Given the description of an element on the screen output the (x, y) to click on. 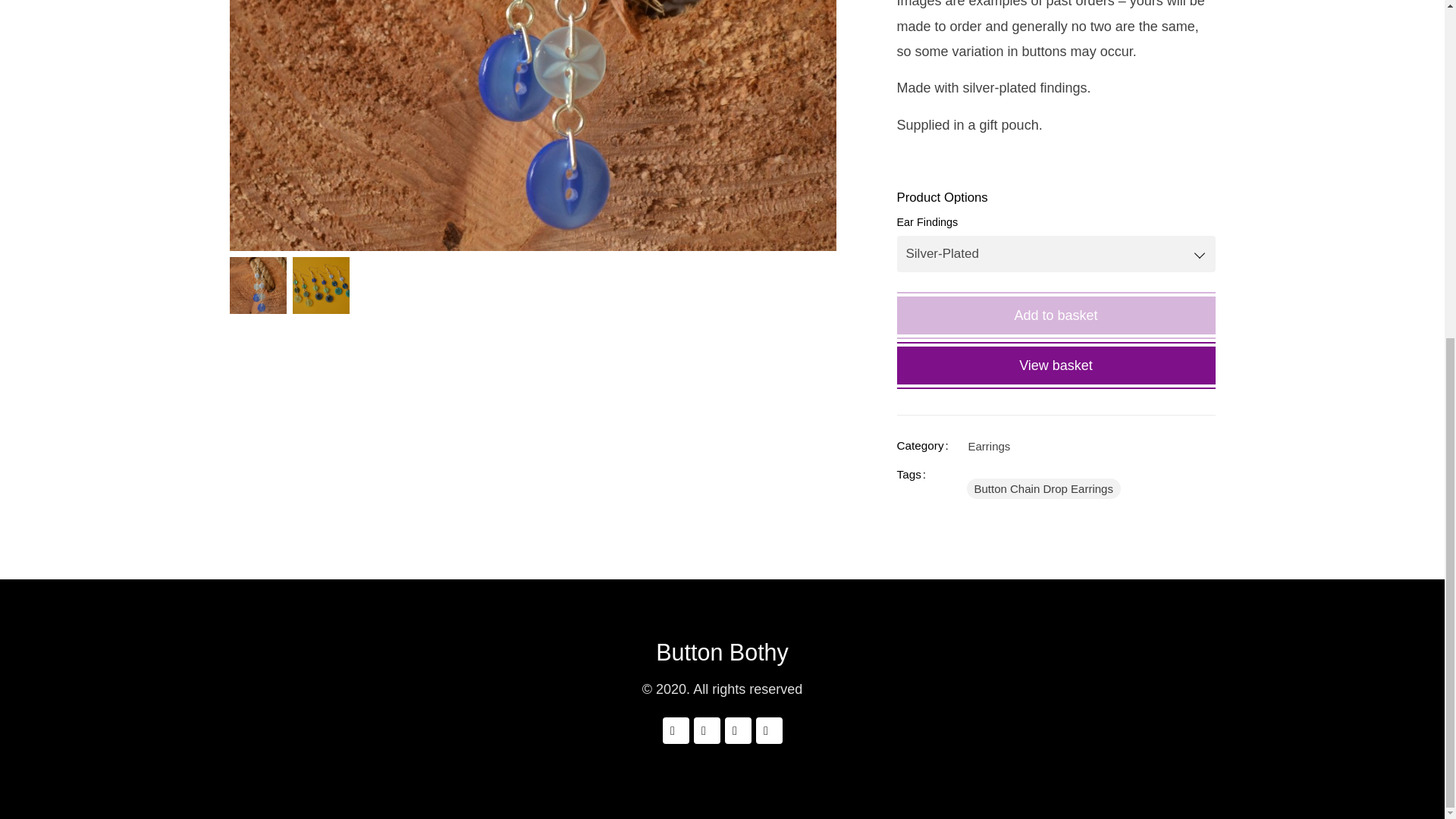
View basket (1055, 365)
Add to basket (1055, 315)
Earrings (988, 446)
Button Bothy (722, 652)
Button Chain Drop Earrings (1042, 488)
